Given the description of an element on the screen output the (x, y) to click on. 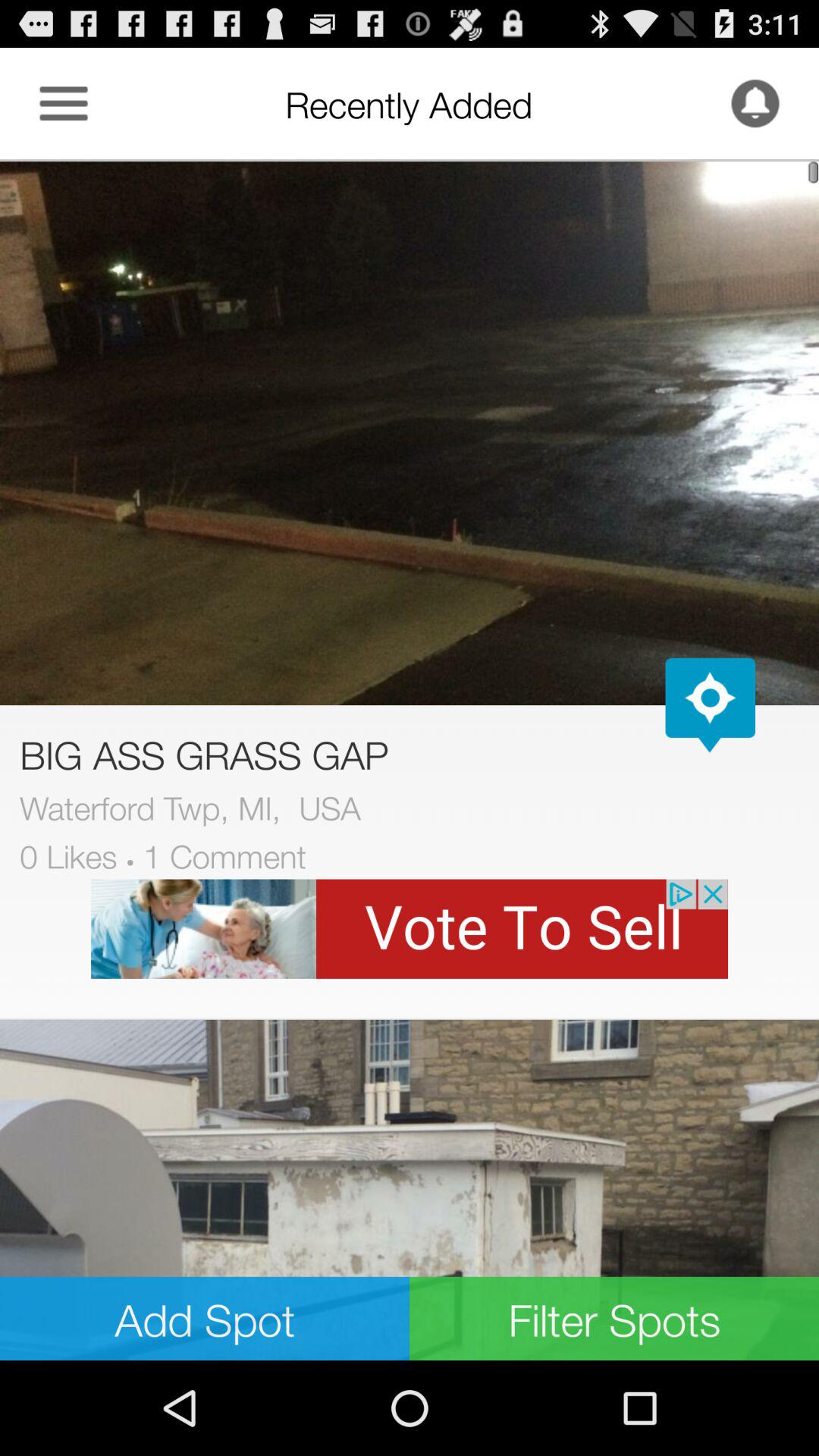
bell button or notification button (755, 103)
